Given the description of an element on the screen output the (x, y) to click on. 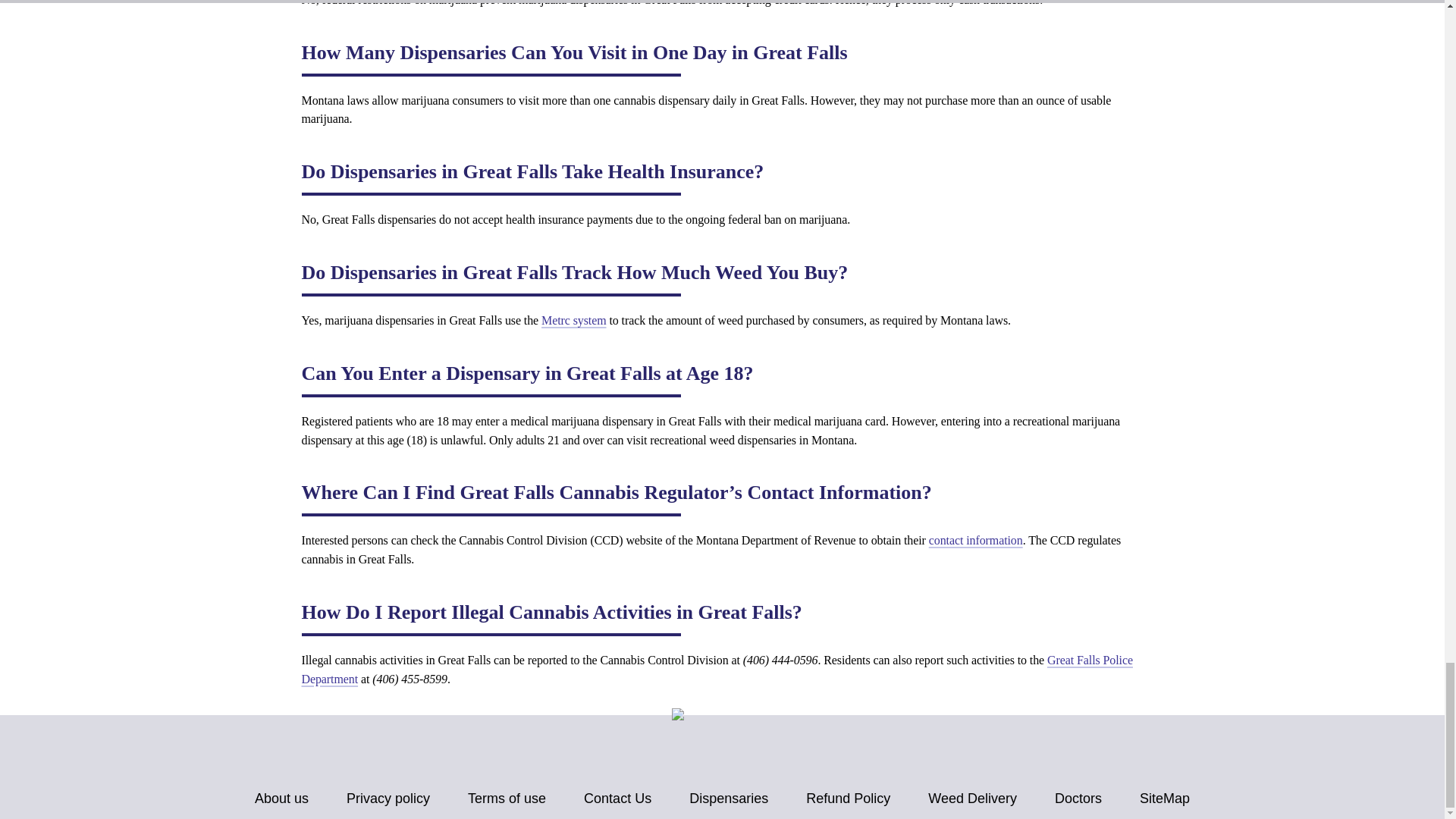
Terms of use (506, 798)
Metrc system (574, 319)
SiteMap (1164, 798)
contact information (975, 540)
Privacy policy (387, 798)
Contact Us (616, 798)
About us (281, 798)
Dispensaries (728, 798)
Weed Delivery (972, 798)
Great Falls Police Department (716, 669)
